Given the description of an element on the screen output the (x, y) to click on. 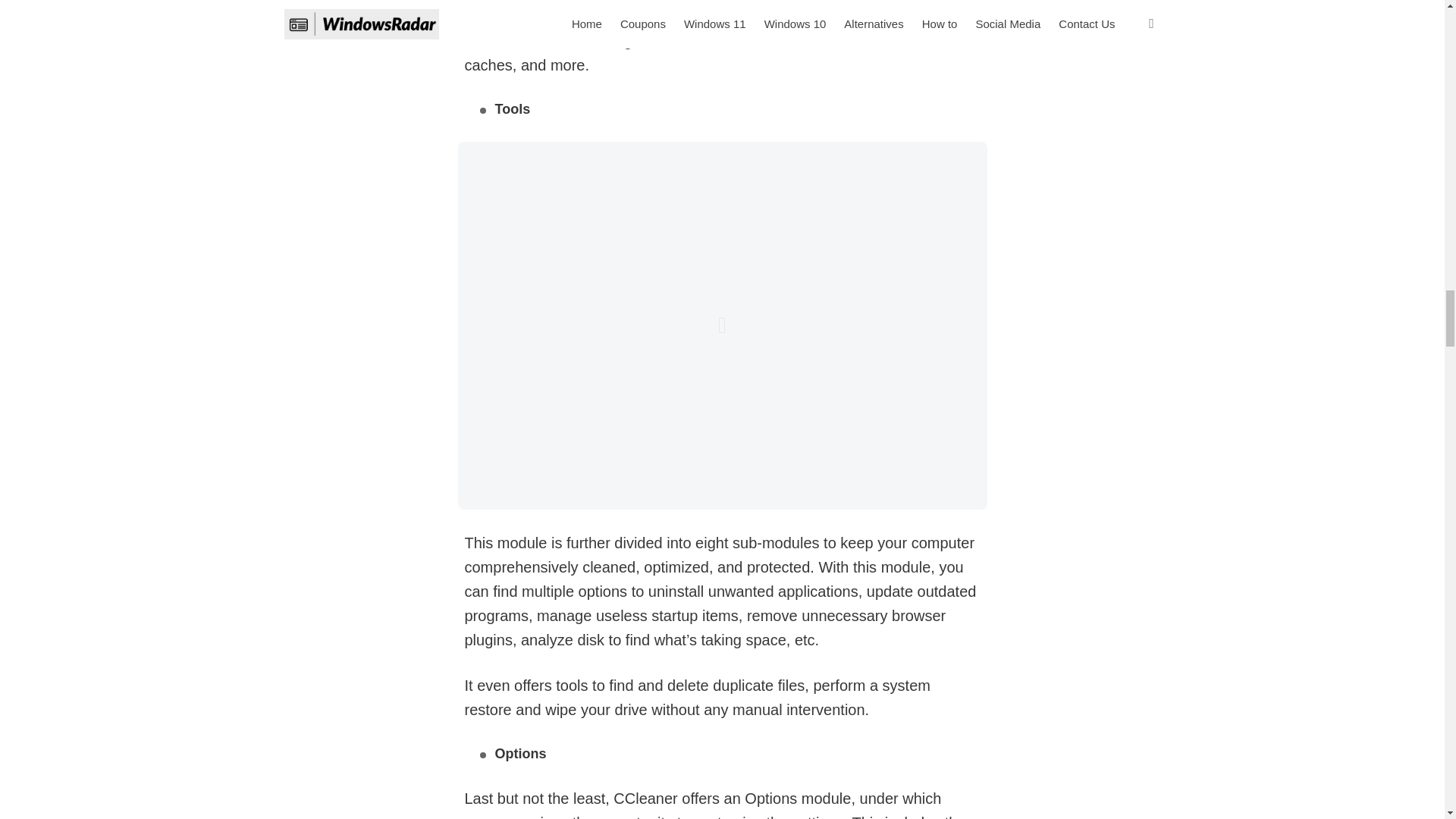
find and delete duplicate files (706, 685)
